Given the description of an element on the screen output the (x, y) to click on. 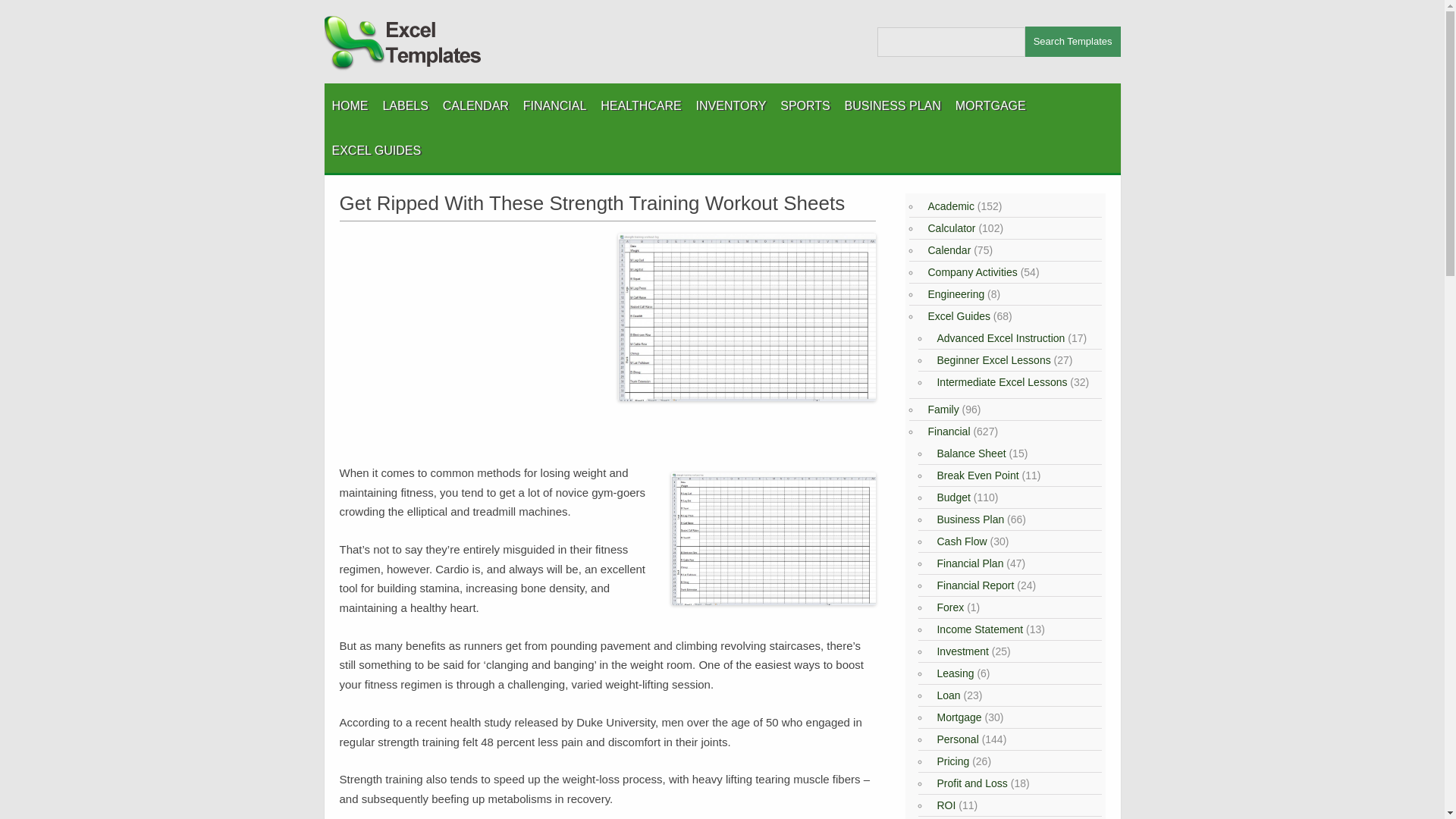
FINANCIAL (554, 105)
Engineering (953, 294)
BEGINNER EXCEL LESSONS (407, 187)
Strength Training Workout Log (772, 539)
HEALTHCARE (640, 105)
SPORTS (804, 105)
Excel Guides (956, 316)
Company Activities (969, 272)
EXCEL GUIDES (376, 149)
INVENTORY (731, 105)
Financial (946, 431)
LABELS (404, 105)
Balance Sheet (969, 453)
Family (940, 409)
